Given the description of an element on the screen output the (x, y) to click on. 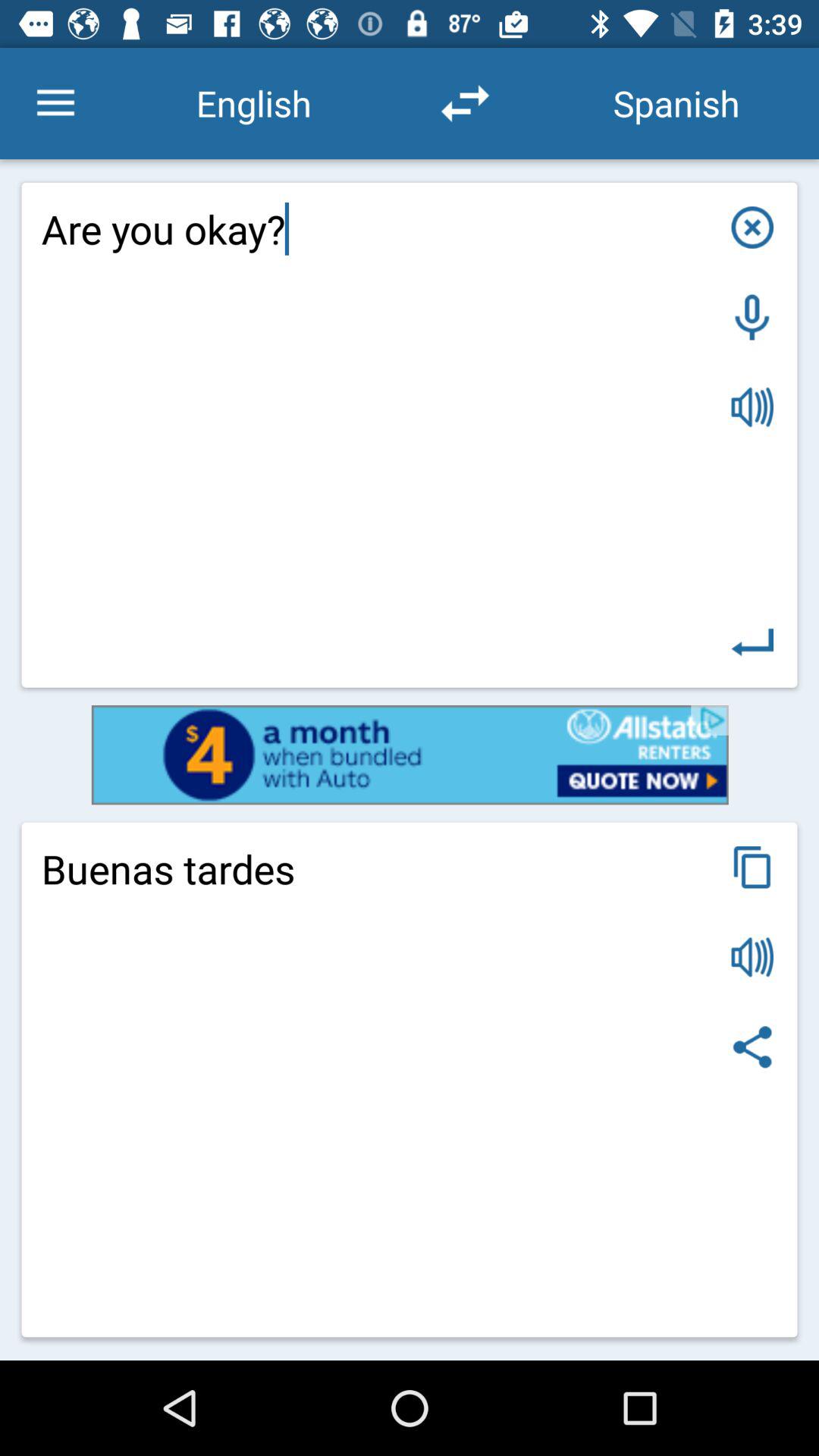
switch order (465, 103)
